Given the description of an element on the screen output the (x, y) to click on. 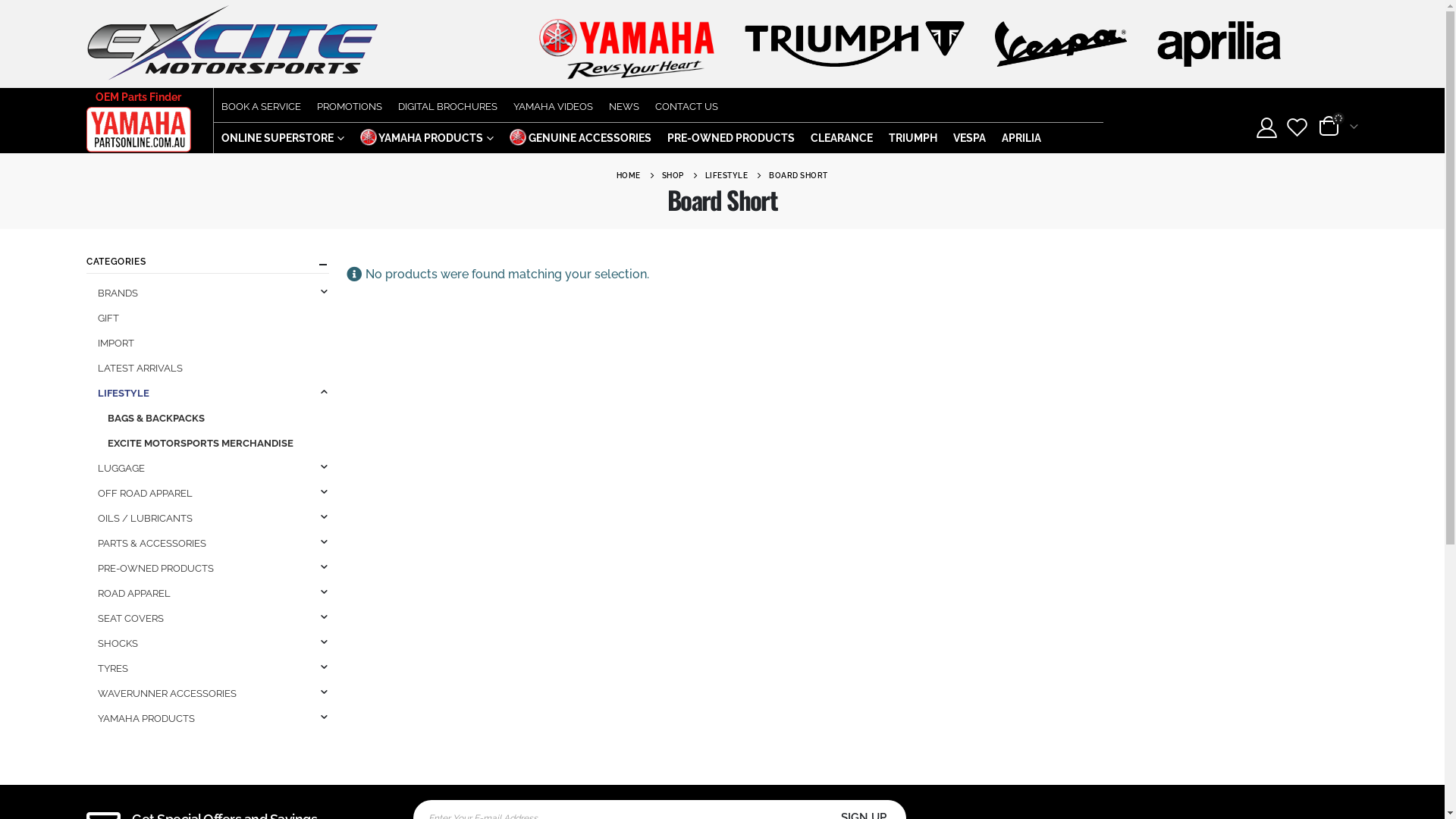
IMPORT Element type: text (115, 342)
LIFESTYLE Element type: text (726, 175)
TRIUMPH Element type: text (912, 137)
LATEST ARRIVALS Element type: text (139, 367)
TYRES Element type: text (112, 667)
VESPA Element type: text (969, 137)
WAVERUNNER ACCESSORIES Element type: text (166, 693)
PARTS & ACCESSORIES Element type: text (151, 542)
CONTACT US Element type: text (686, 104)
PRE-OWNED PRODUCTS Element type: text (730, 137)
GIFT Element type: text (108, 317)
YAMAHA PRODUCTS Element type: text (145, 718)
LUGGAGE Element type: text (120, 467)
BOOK A SERVICE Element type: text (260, 104)
CLEARANCE Element type: text (841, 137)
PRE-OWNED PRODUCTS Element type: text (155, 567)
SHOP Element type: text (673, 175)
APRILIA Element type: text (1021, 137)
BRANDS Element type: text (117, 292)
SEAT COVERS Element type: text (130, 617)
ROAD APPAREL Element type: text (133, 592)
SHOCKS Element type: text (117, 642)
Excite Motorsports - Contact Us: (02) 4722 6222 Element type: hover (232, 42)
YAMAHA PRODUCTS Element type: text (426, 137)
NEWS Element type: text (623, 104)
DIGITAL BROCHURES Element type: text (447, 104)
EXCITE MOTORSPORTS MERCHANDISE Element type: text (200, 442)
GENUINE ACCESSORIES Element type: text (580, 137)
OILS / LUBRICANTS Element type: text (144, 517)
YAMAHA VIDEOS Element type: text (552, 104)
OEM Parts Finder Element type: text (142, 97)
BAGS & BACKPACKS Element type: text (155, 417)
ONLINE SUPERSTORE Element type: text (282, 137)
PROMOTIONS Element type: text (349, 104)
OFF ROAD APPAREL Element type: text (144, 492)
HOME Element type: text (628, 175)
LIFESTYLE Element type: text (123, 392)
